Given the description of an element on the screen output the (x, y) to click on. 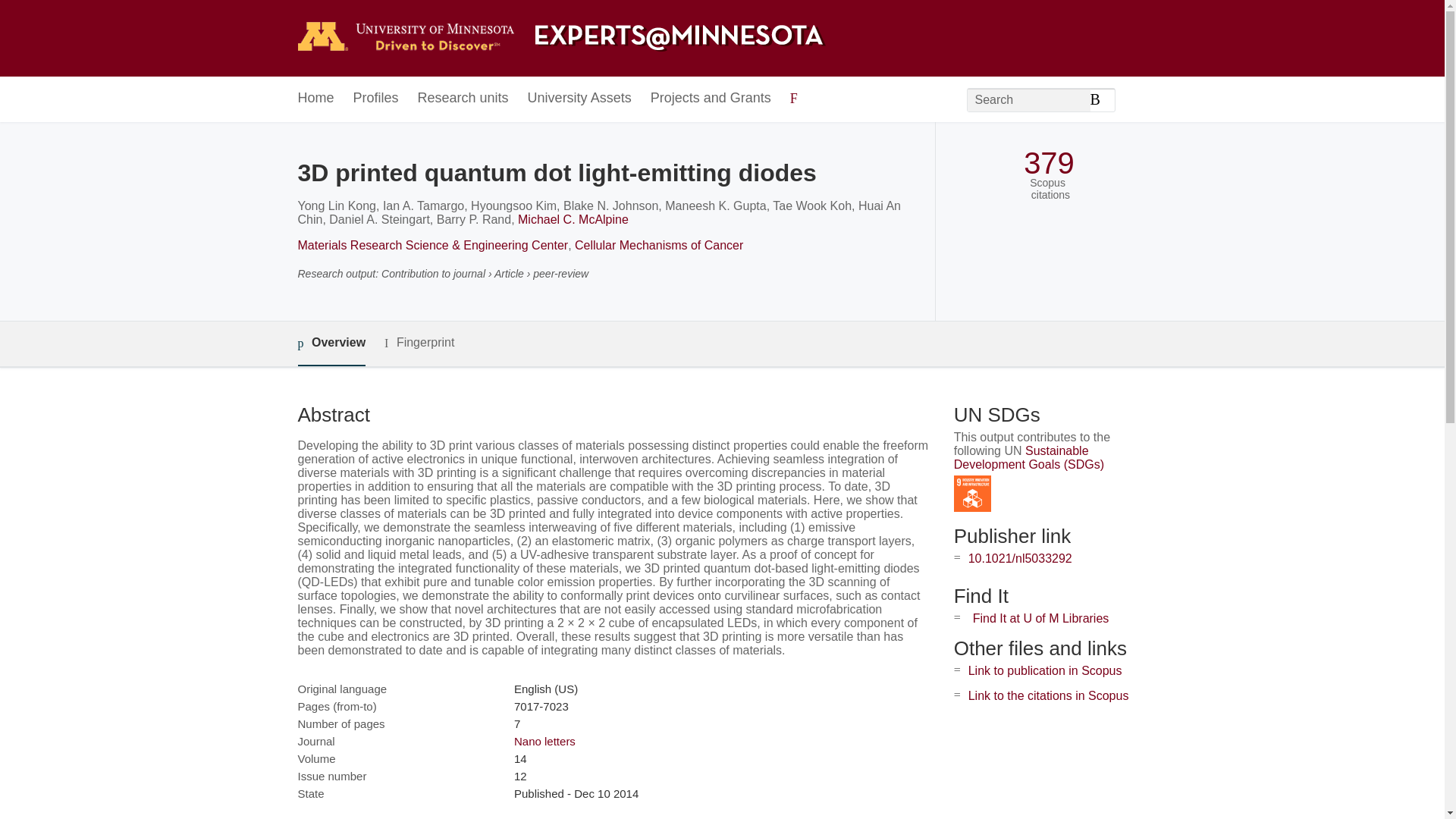
Link to publication in Scopus (1045, 670)
Find It at U of M Libraries (1040, 617)
Michael C. McAlpine (573, 219)
Profiles (375, 98)
Overview (331, 343)
Cellular Mechanisms of Cancer (658, 245)
SDG 9 - Industry, Innovation, and Infrastructure (972, 493)
Projects and Grants (710, 98)
Link to the citations in Scopus (1048, 695)
Research units (462, 98)
